Given the description of an element on the screen output the (x, y) to click on. 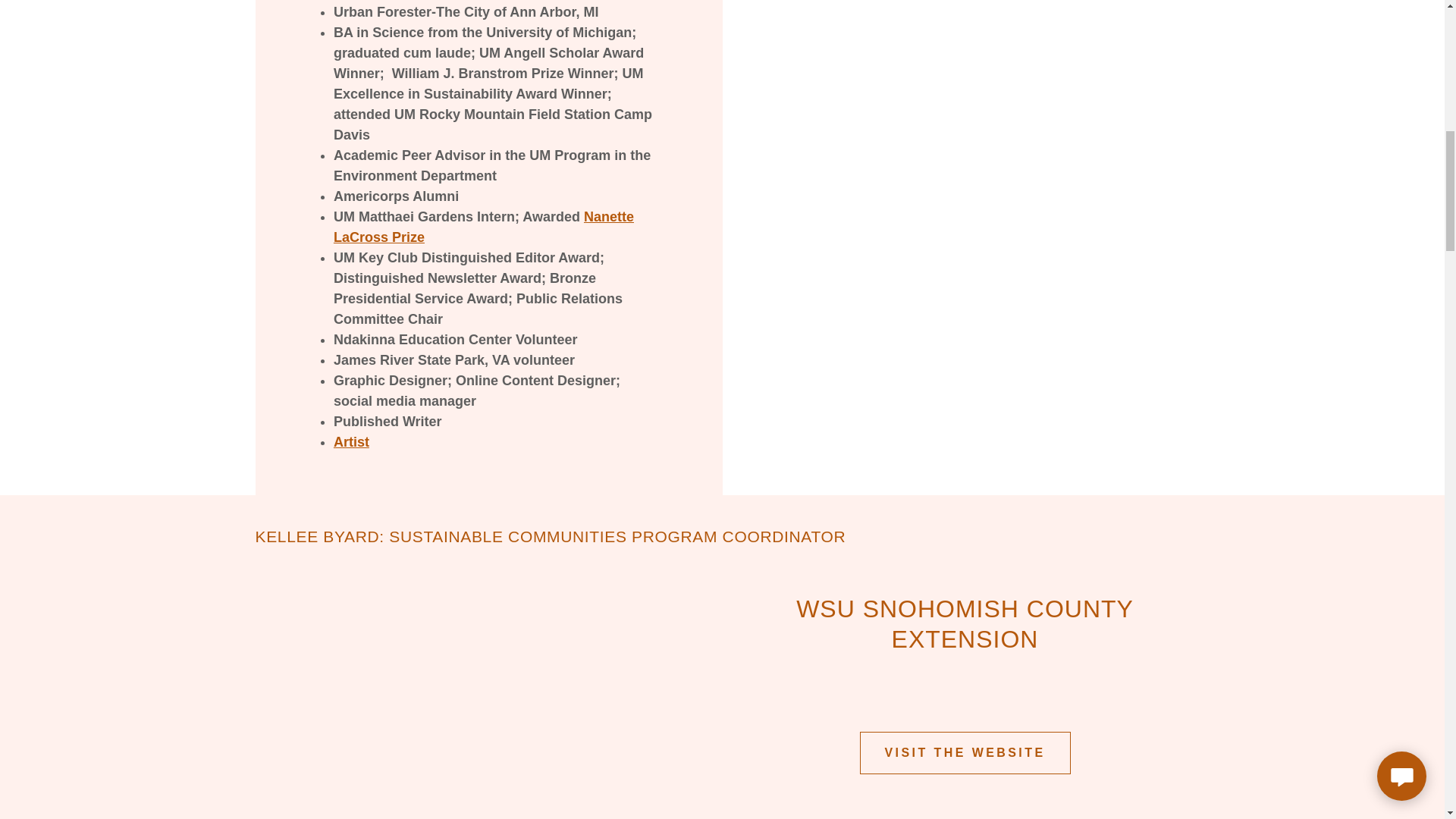
VISIT THE WEBSITE (965, 752)
Nanette LaCross Prize (483, 226)
Artist (351, 441)
